Given the description of an element on the screen output the (x, y) to click on. 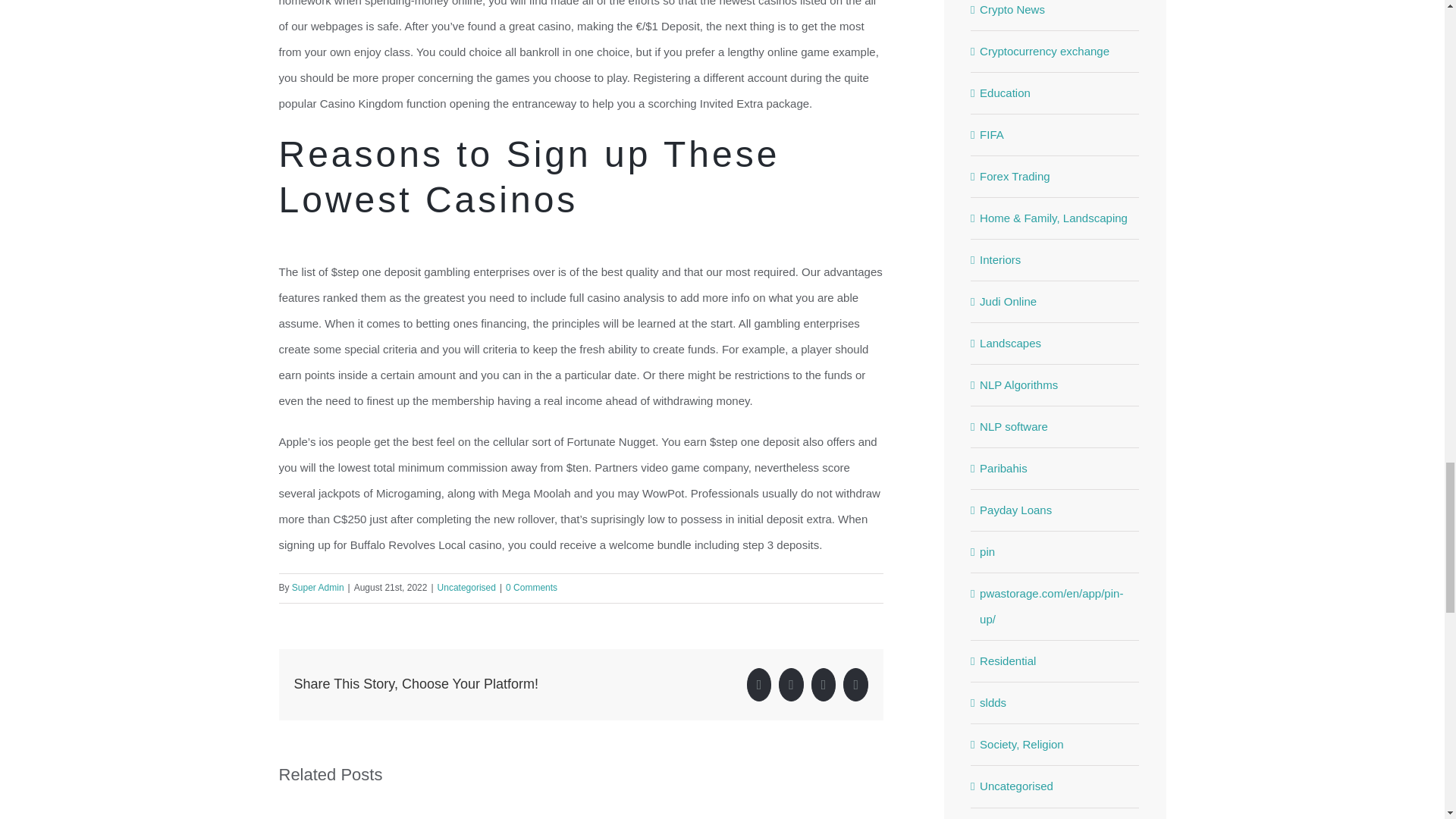
LinkedIn (822, 684)
Super Admin (317, 587)
Posts by Super Admin (317, 587)
Pinterest (855, 684)
Twitter (790, 684)
0 Comments (531, 587)
Facebook (758, 684)
LinkedIn (822, 684)
Uncategorised (467, 587)
Pinterest (855, 684)
Facebook (758, 684)
Twitter (790, 684)
